Given the description of an element on the screen output the (x, y) to click on. 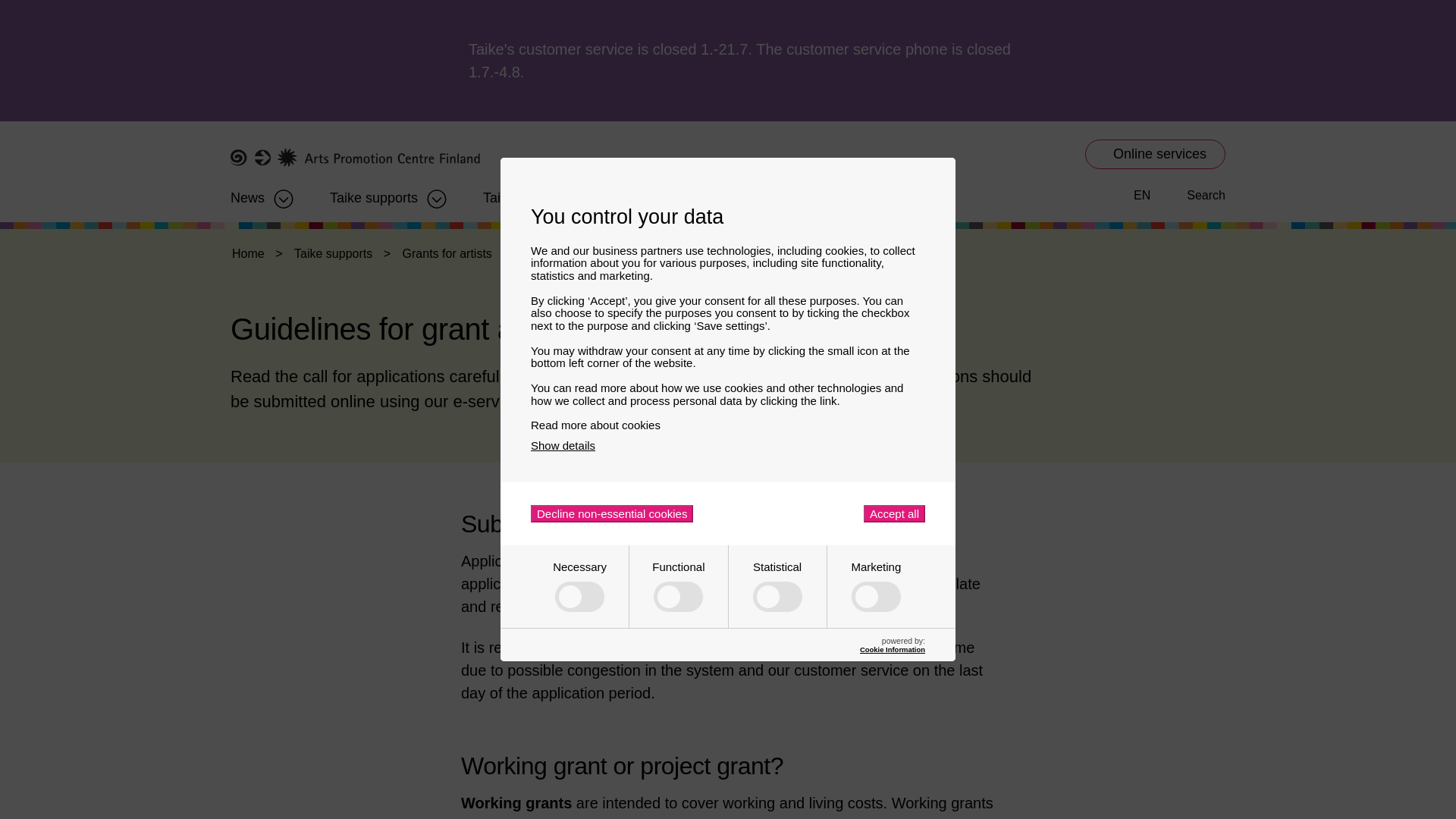
Decline non-essential cookies (612, 513)
Show details (563, 445)
Accept all (893, 513)
Read more about cookies (727, 424)
Home page (355, 157)
Apurahat ja avustukset (373, 192)
Cookie Information (892, 649)
